Given the description of an element on the screen output the (x, y) to click on. 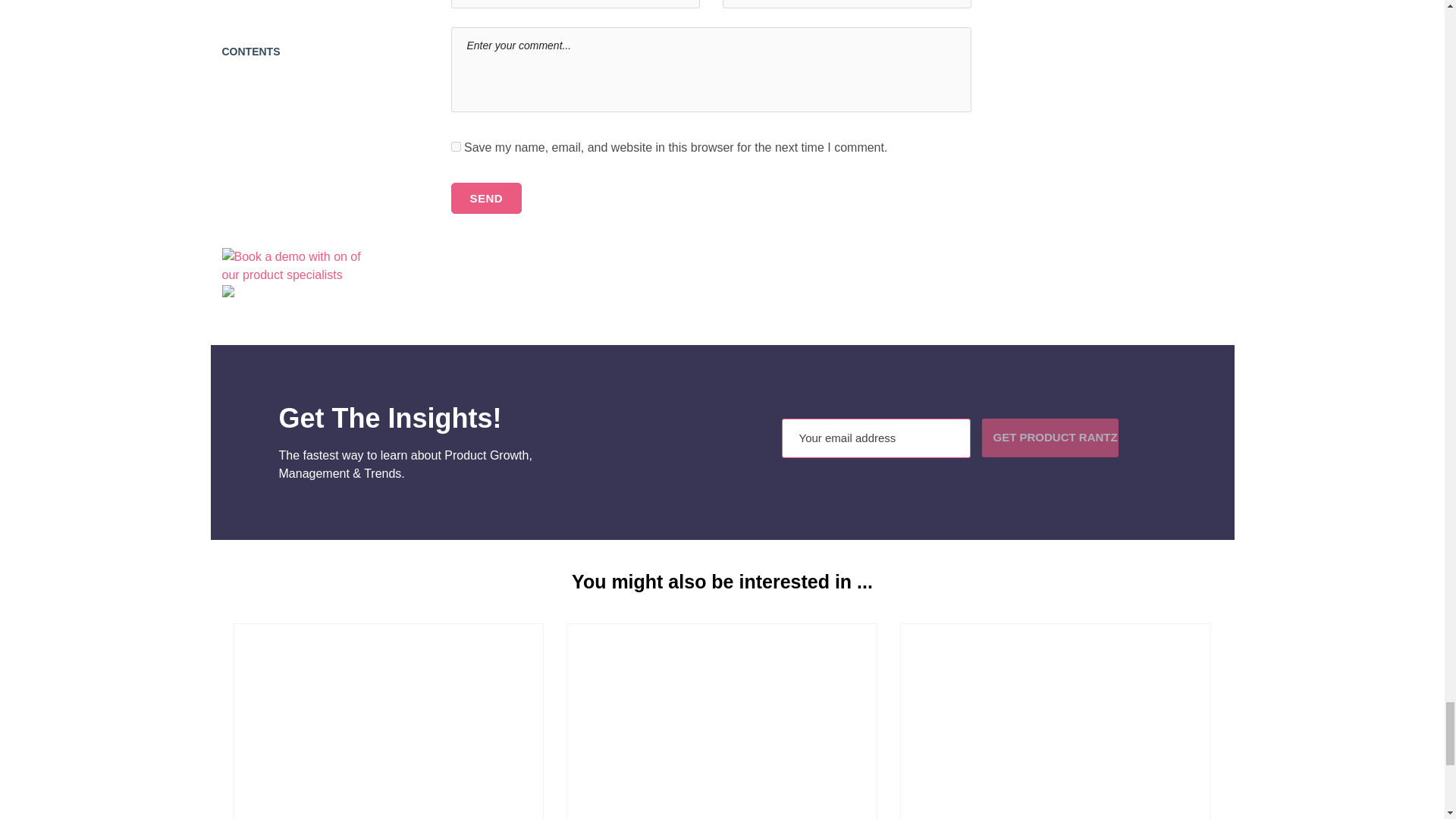
GET PRODUCT RANTZ (1049, 437)
yes (454, 146)
Send (485, 197)
